Given the description of an element on the screen output the (x, y) to click on. 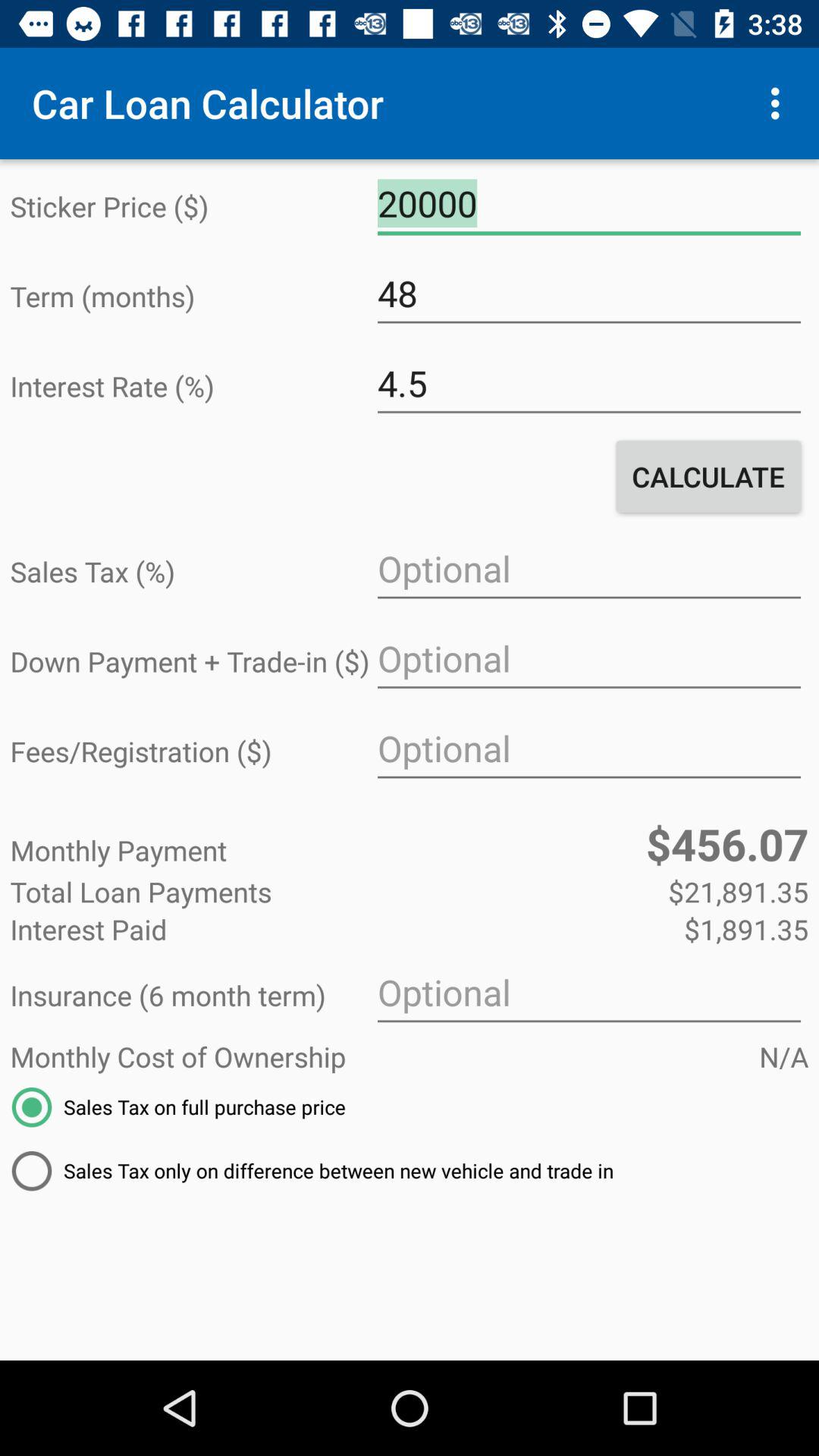
launch icon above the monthly cost of (588, 992)
